Given the description of an element on the screen output the (x, y) to click on. 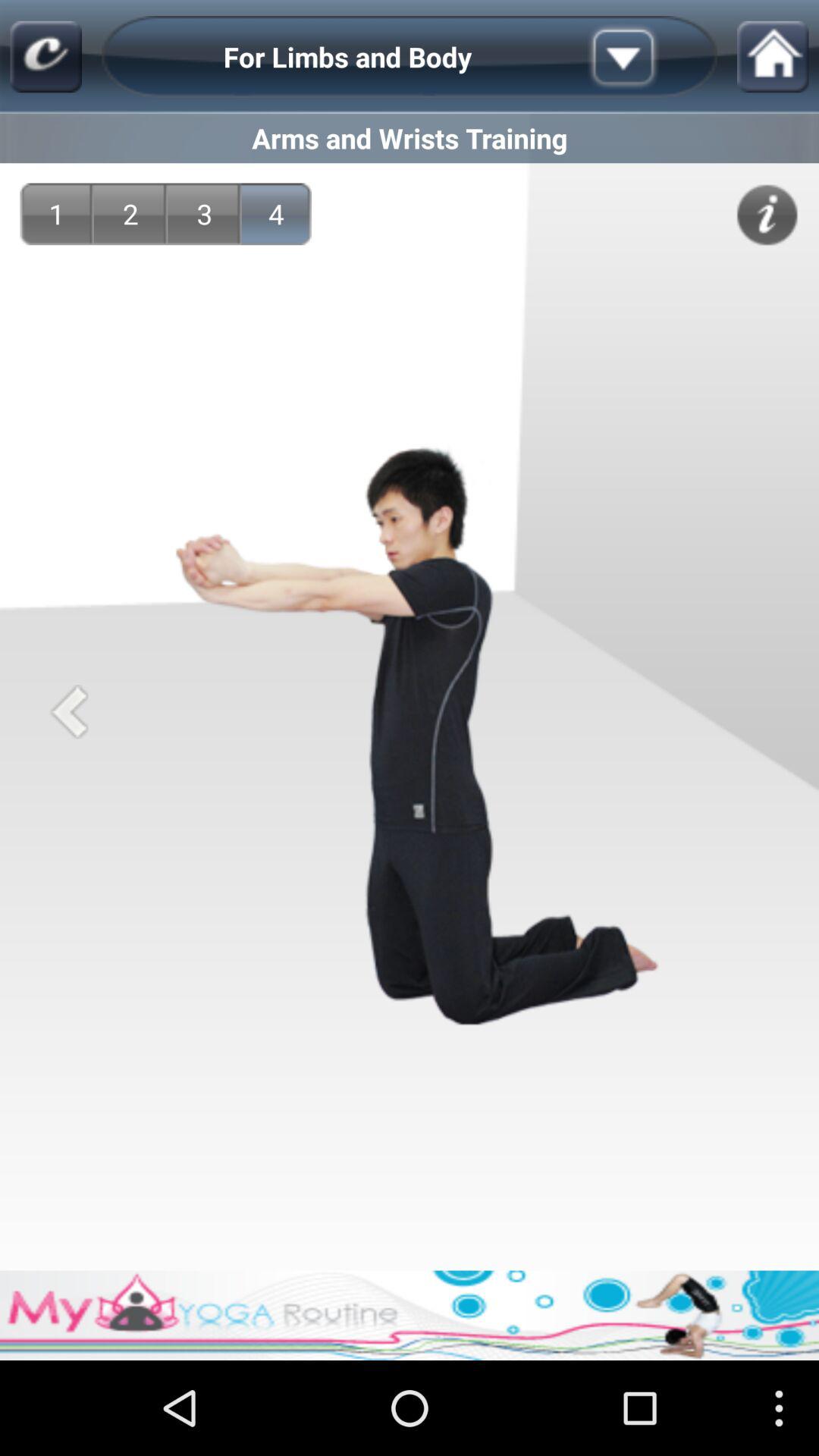
more information (767, 214)
